Given the description of an element on the screen output the (x, y) to click on. 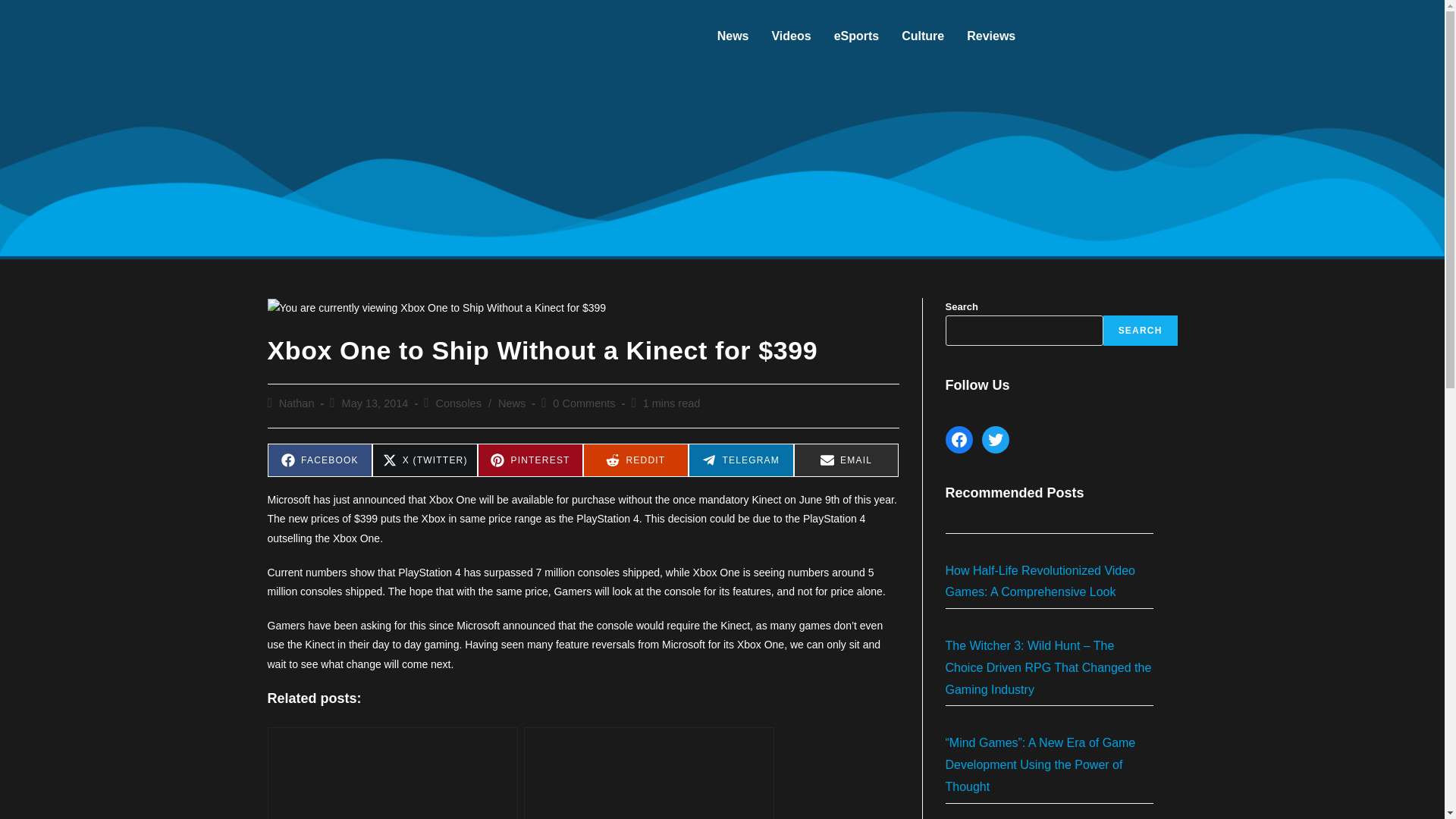
EMAIL (846, 459)
REDDIT (635, 459)
Culture (922, 36)
eSports (856, 36)
0 Comments (583, 403)
TELEGRAM (740, 459)
Posts by Nathan (296, 403)
